Given the description of an element on the screen output the (x, y) to click on. 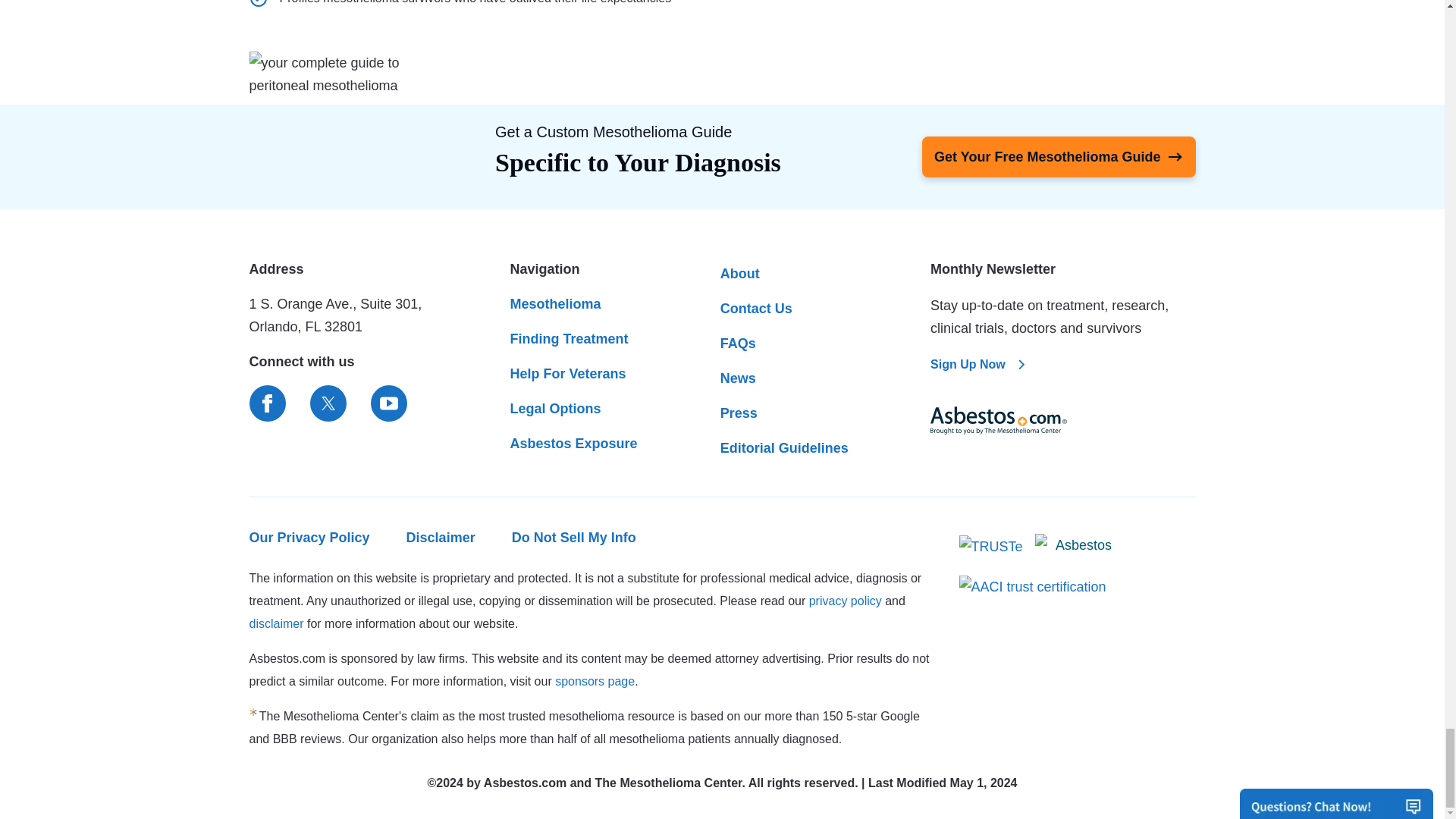
Asbestos.com, LLC, Health Care, Orlando, FL (1072, 547)
